Given the description of an element on the screen output the (x, y) to click on. 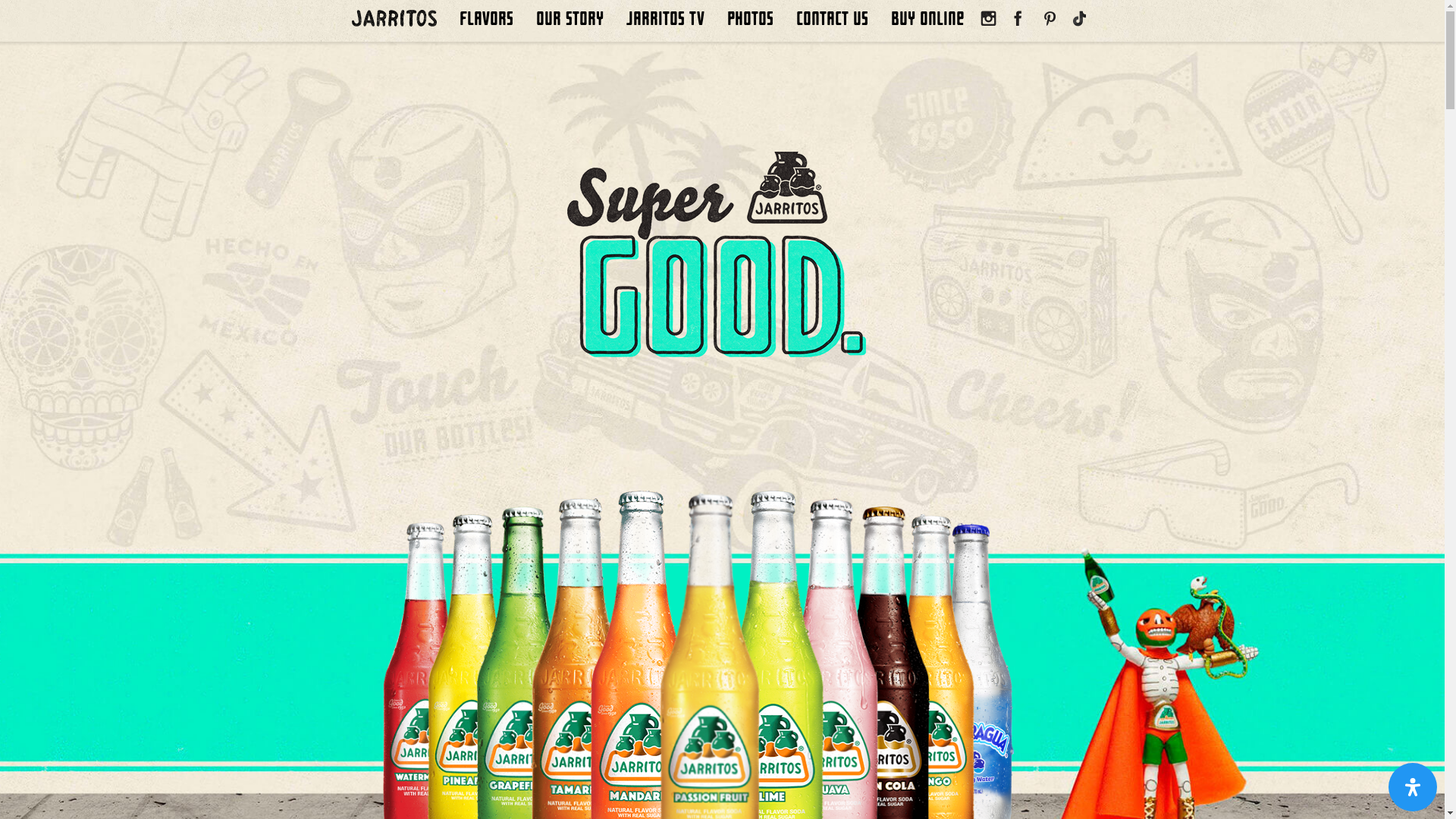
FLAVORS Element type: text (486, 18)
JARRITOS TV Element type: text (665, 18)
PHOTOS Element type: text (749, 18)
Accessibility Element type: hover (1412, 786)
OUR STORY Element type: text (569, 18)
CONTACT US Element type: text (831, 18)
BUY ONLINE Element type: text (927, 18)
Jarritos Australia Element type: hover (399, 15)
